Given the description of an element on the screen output the (x, y) to click on. 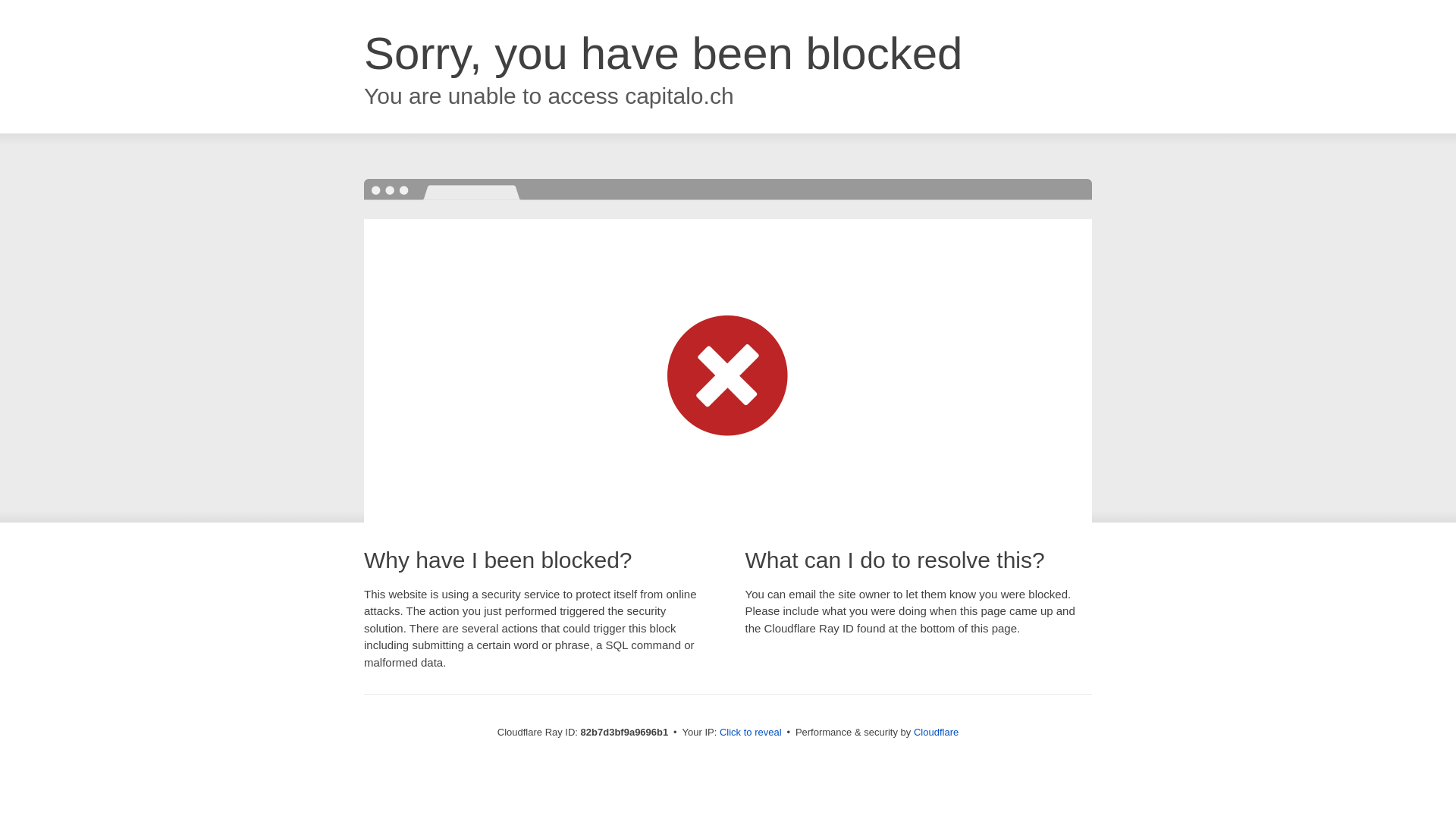
Cloudflare Element type: text (935, 731)
Click to reveal Element type: text (750, 732)
